Given the description of an element on the screen output the (x, y) to click on. 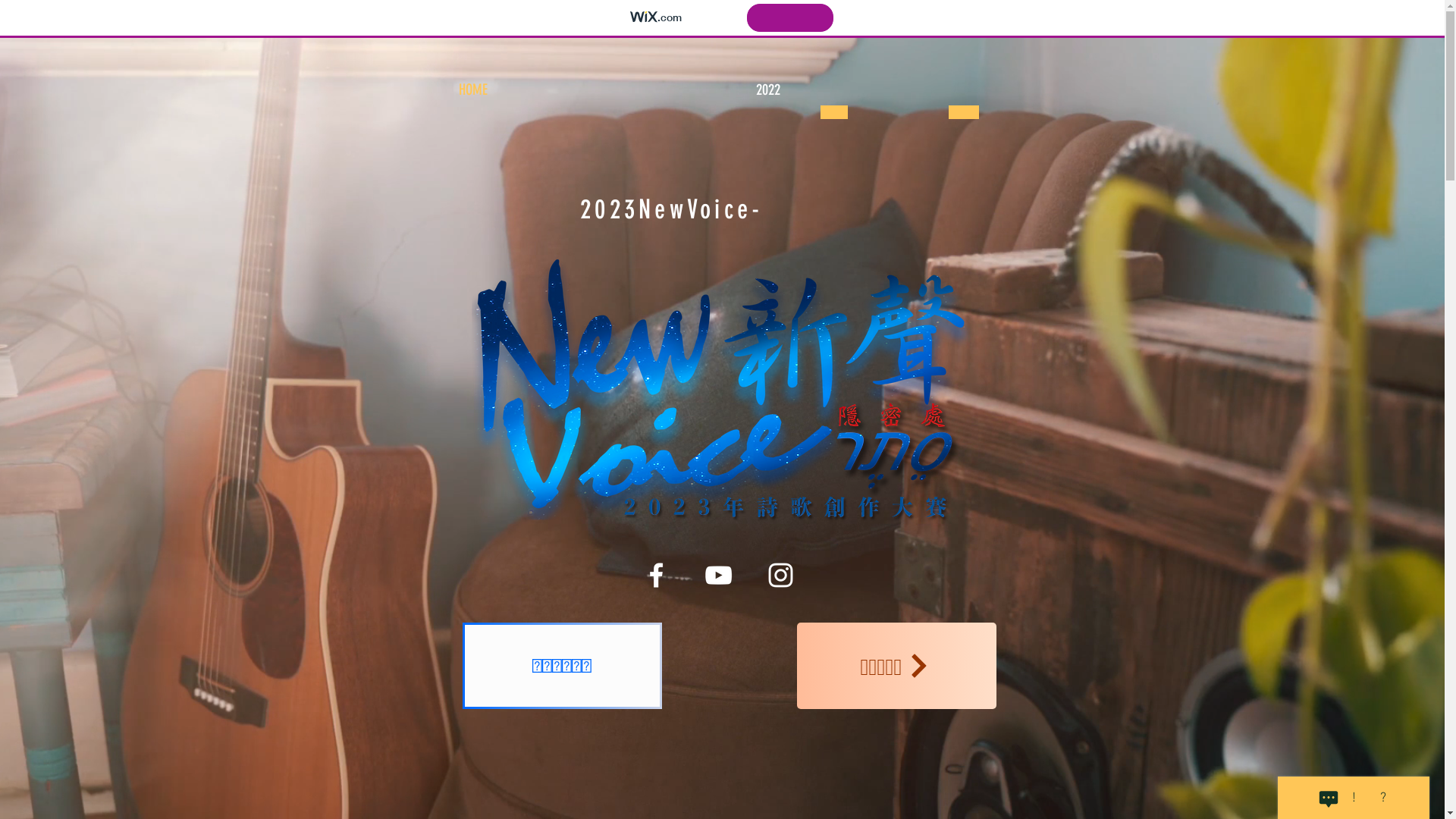
HOME Element type: text (472, 89)
